Given the description of an element on the screen output the (x, y) to click on. 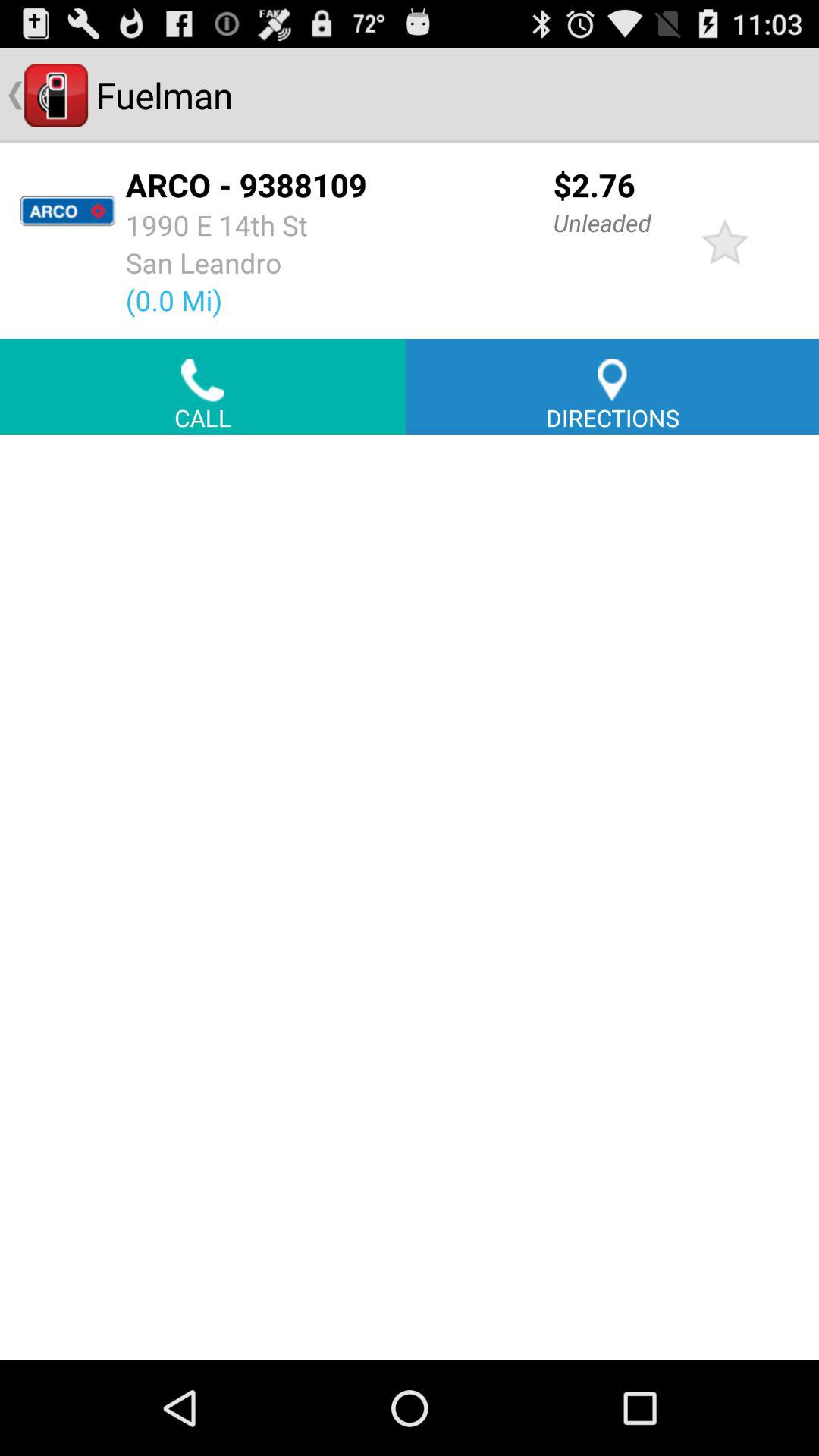
rating star (724, 240)
